Given the description of an element on the screen output the (x, y) to click on. 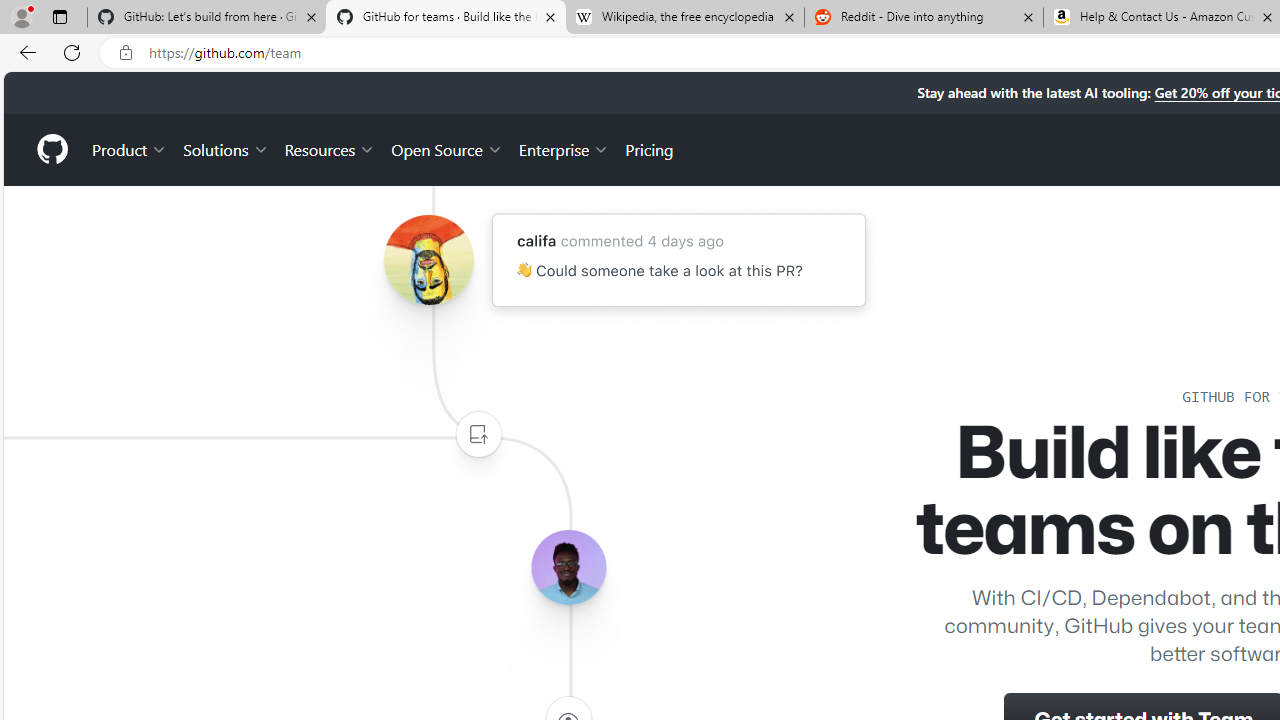
Enterprise (563, 148)
Reddit - Dive into anything (924, 17)
Resources (330, 148)
Open Source (446, 148)
Product (130, 148)
Open Source (446, 148)
Solutions (225, 148)
Enterprise (563, 148)
